Given the description of an element on the screen output the (x, y) to click on. 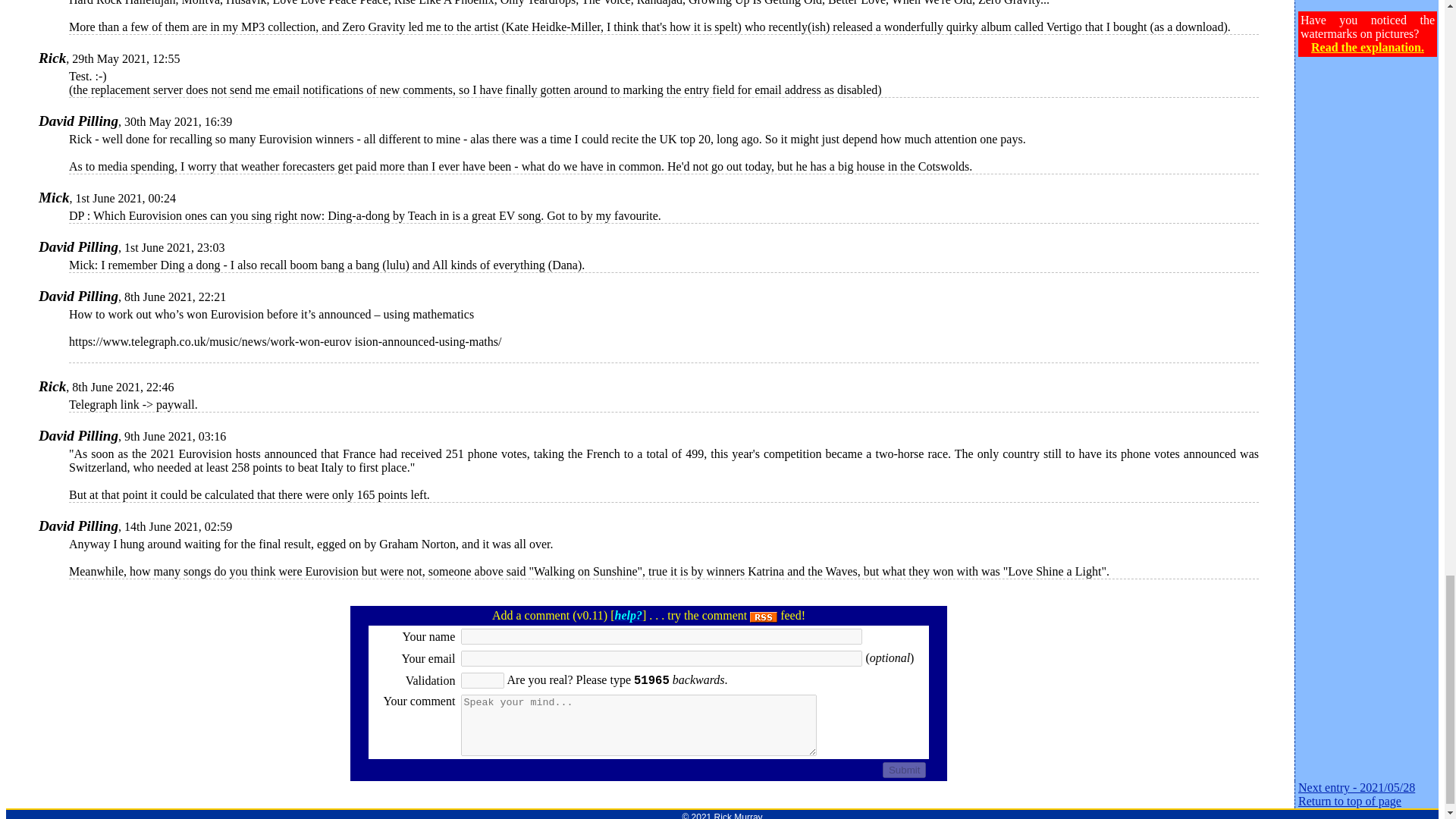
Submit (904, 770)
Submit (904, 770)
help? (628, 615)
